Given the description of an element on the screen output the (x, y) to click on. 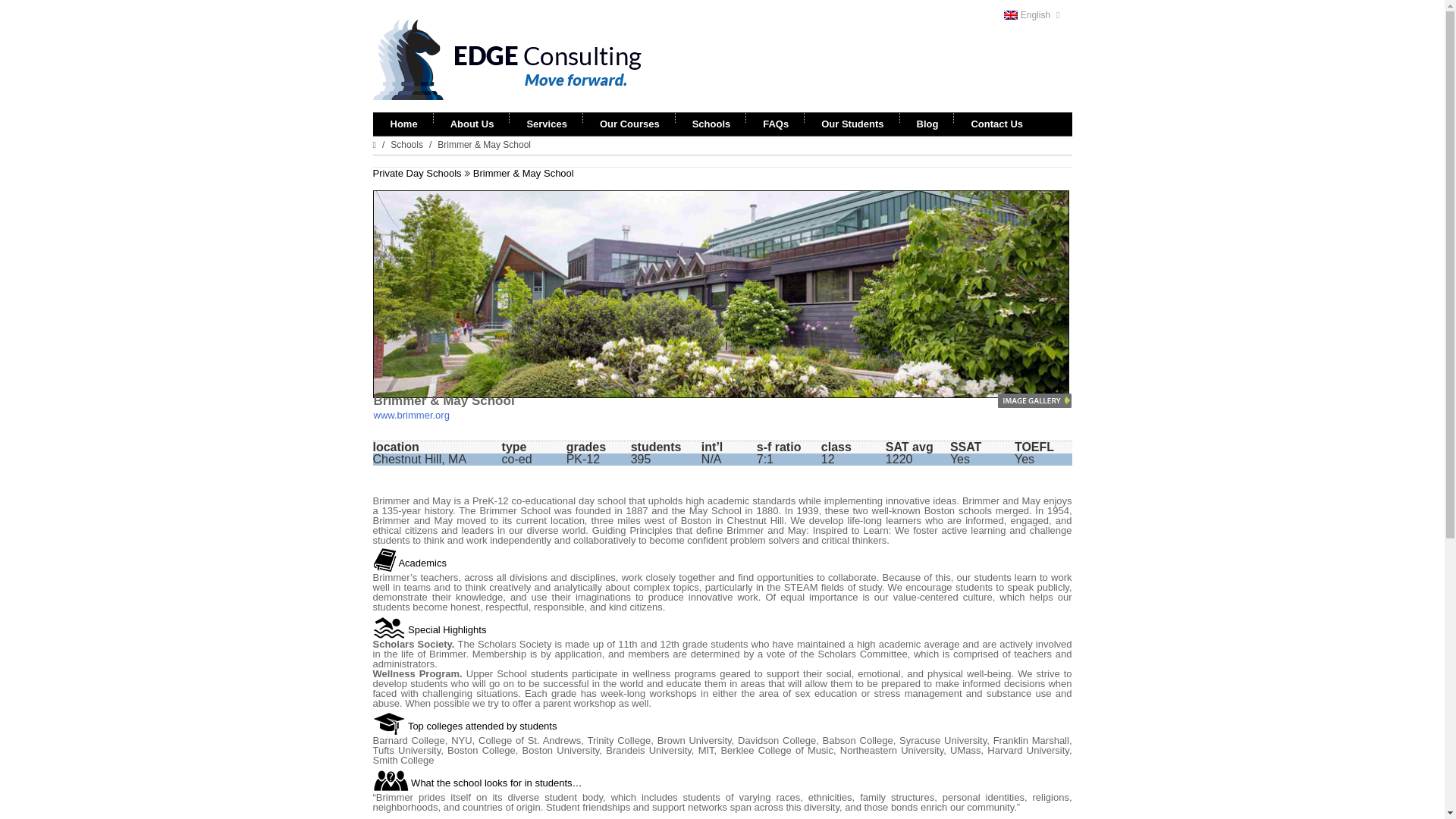
English (1037, 15)
English (1037, 15)
Schools (406, 144)
Home (403, 124)
About Us (472, 124)
Edge Consulting (510, 61)
